Given the description of an element on the screen output the (x, y) to click on. 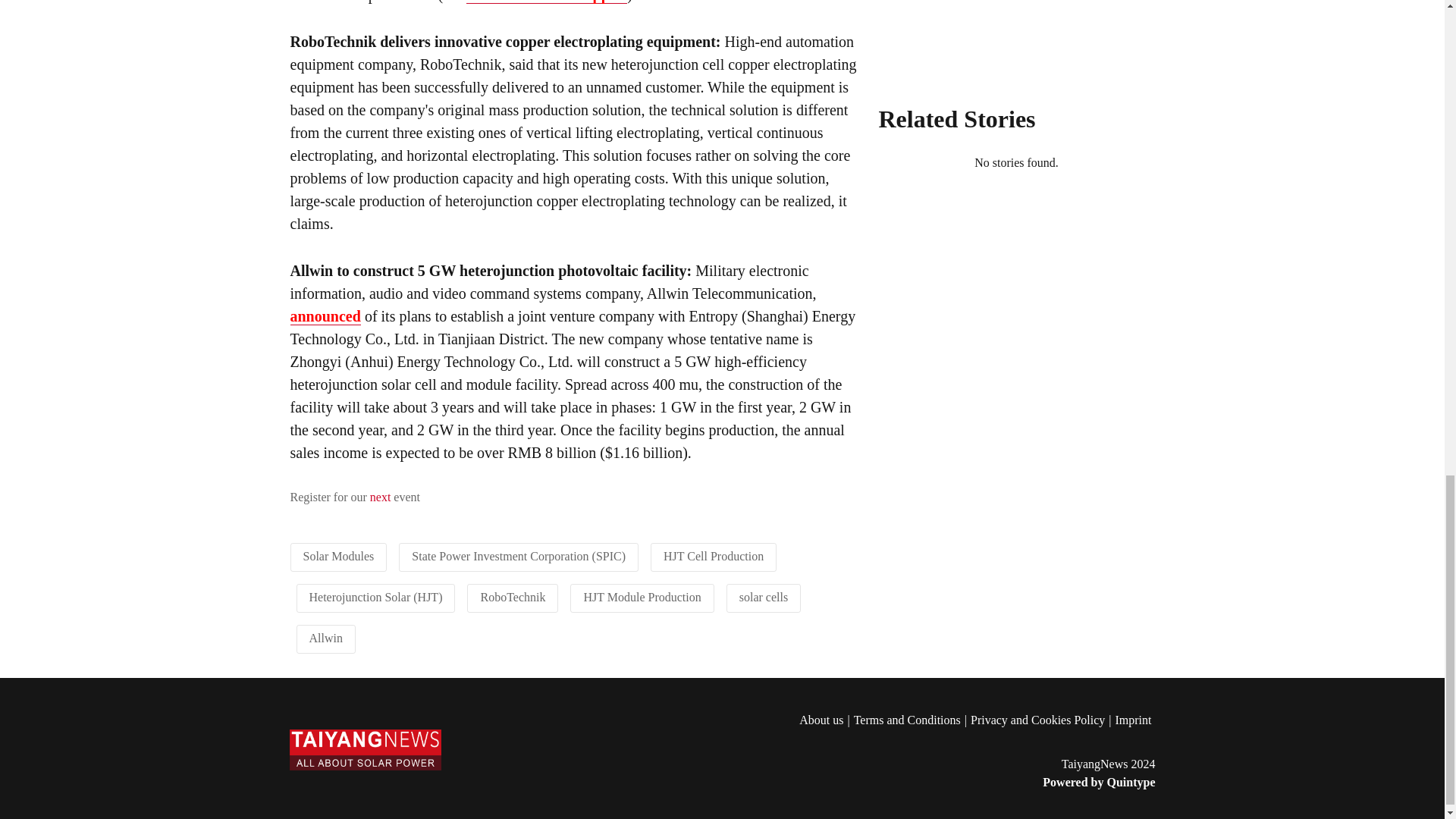
solar cells (763, 596)
announced (324, 316)
China PV News Snippets (546, 2)
HJT Cell Production (712, 555)
Allwin (325, 637)
HJT Module Production (641, 596)
Solar Modules (338, 555)
RoboTechnik (512, 596)
next (380, 496)
